Given the description of an element on the screen output the (x, y) to click on. 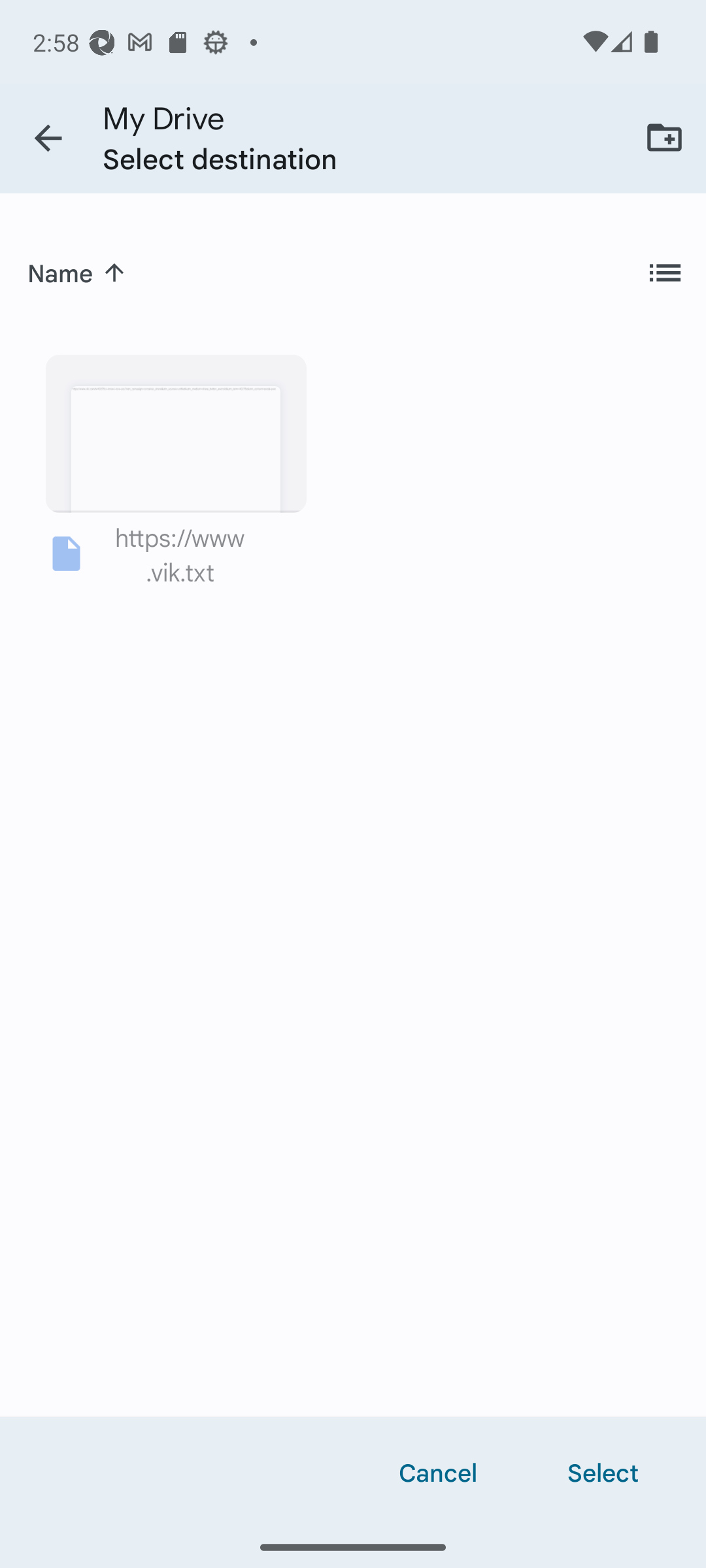
Back (48, 138)
Create new folder (664, 137)
Sort by Name Name (77, 272)
View as list (664, 272)
https://www.vik.txt https://www.vik.txt, Text file (176, 467)
Cancel (437, 1471)
Select (602, 1471)
